Given the description of an element on the screen output the (x, y) to click on. 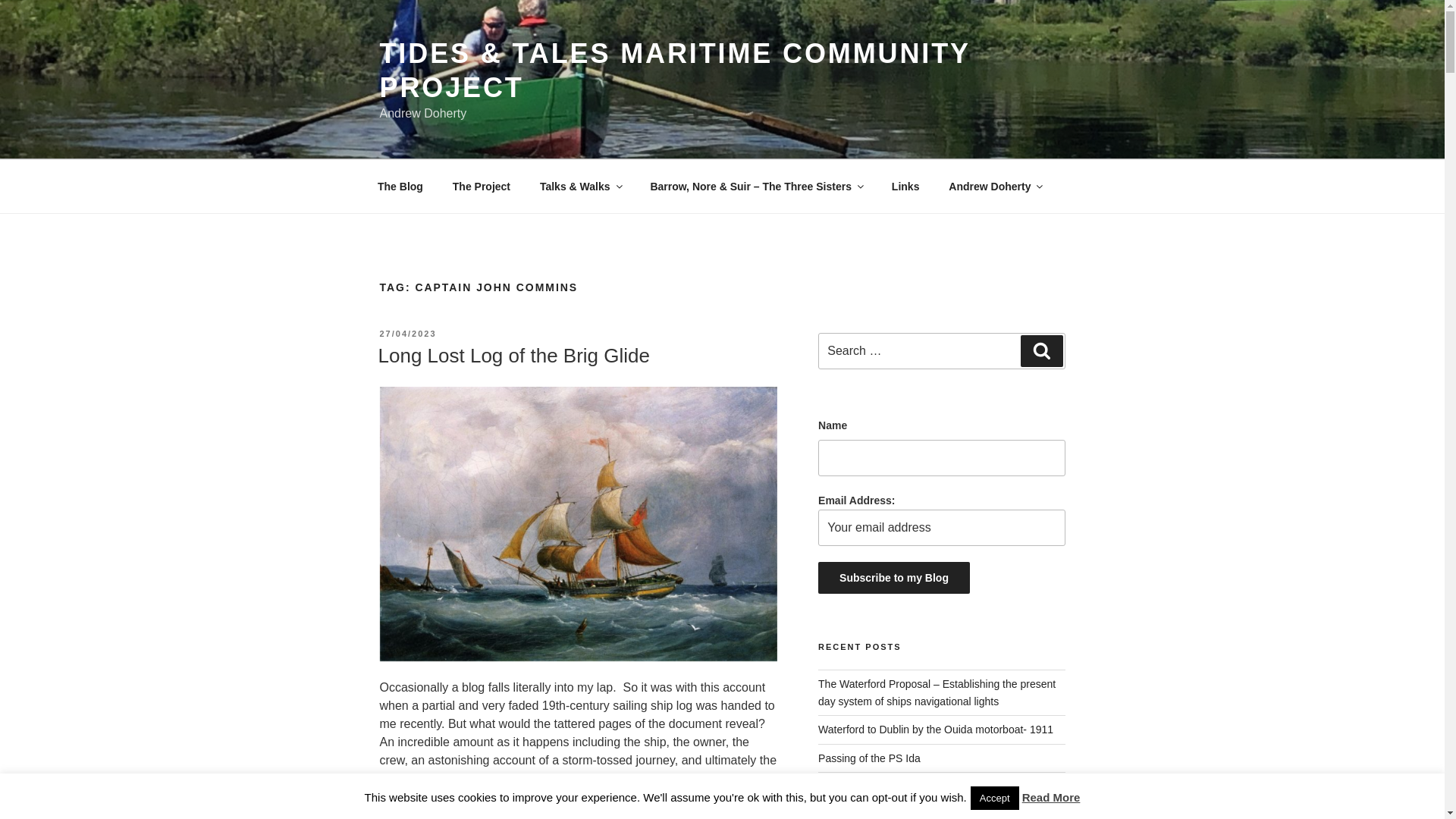
Subscribe to my Blog (893, 577)
The Project (480, 186)
Andrew Doherty (995, 186)
Long Lost Log of the Brig Glide (513, 354)
Links (905, 186)
The Blog (399, 186)
